Given the description of an element on the screen output the (x, y) to click on. 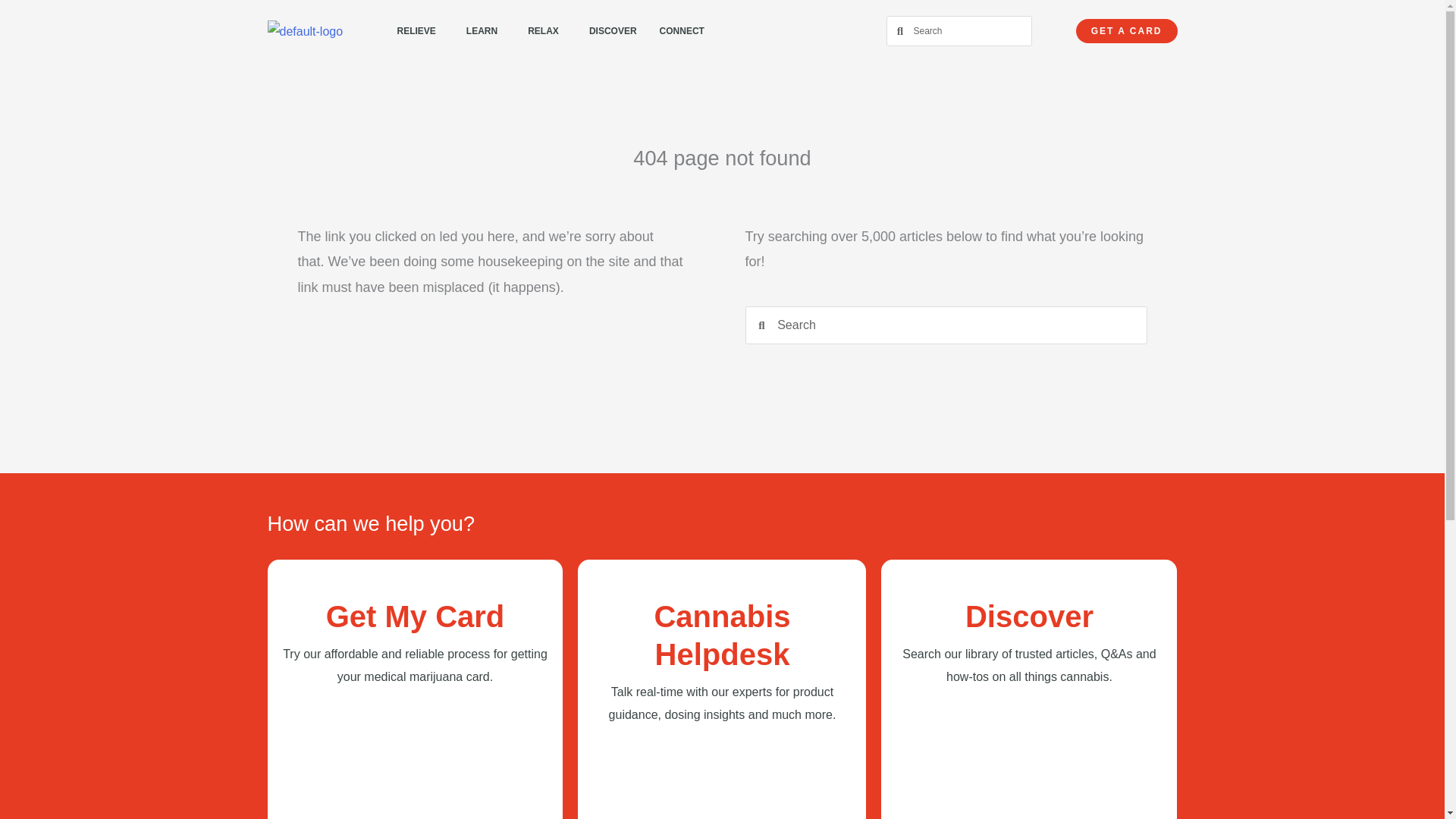
GET A CARD (1126, 30)
CONNECT (685, 30)
LEARN (485, 30)
RELAX (547, 30)
DISCOVER (612, 30)
RELIEVE (419, 30)
